Given the description of an element on the screen output the (x, y) to click on. 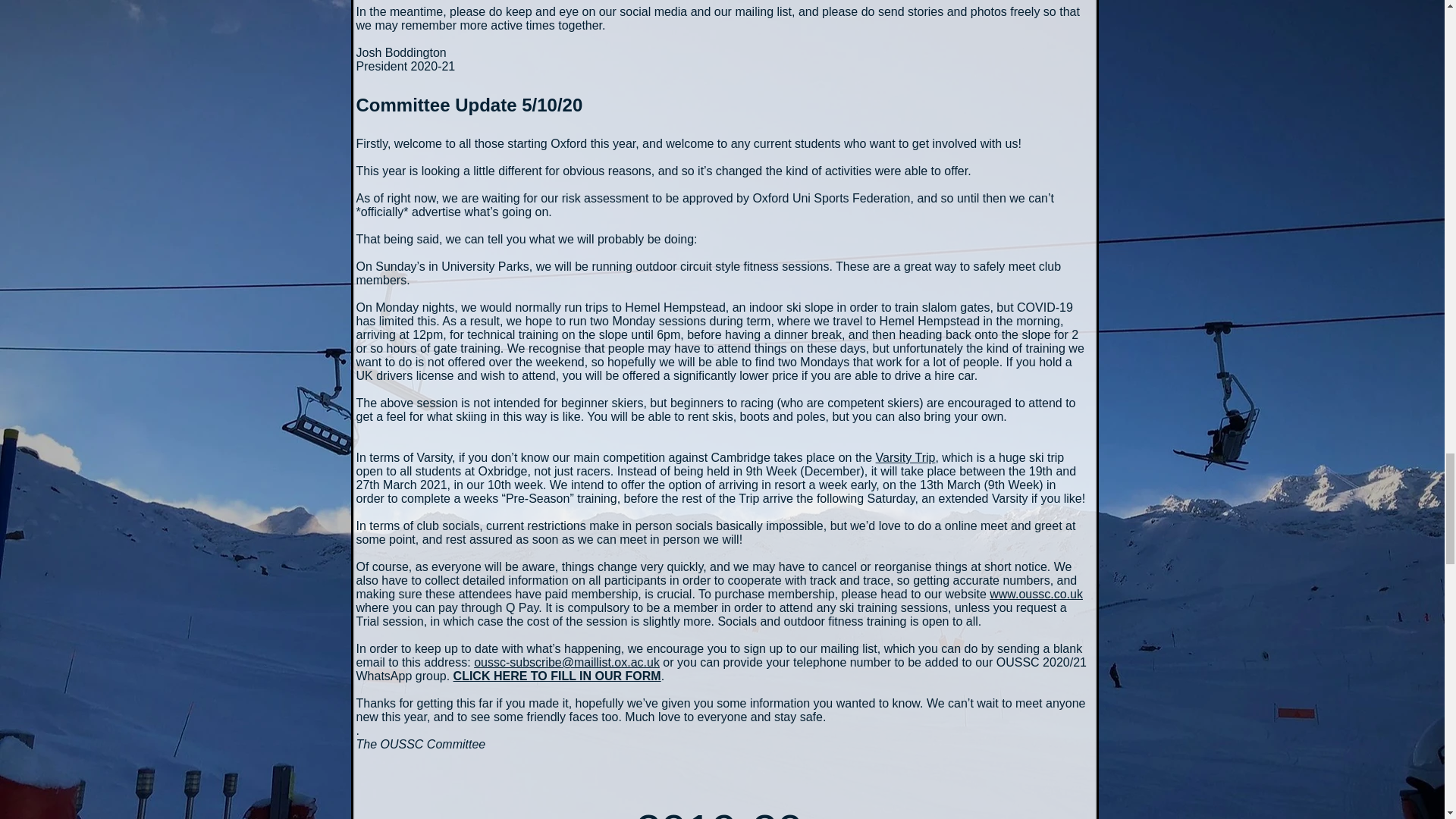
www.oussc.co.uk (1036, 594)
